Given the description of an element on the screen output the (x, y) to click on. 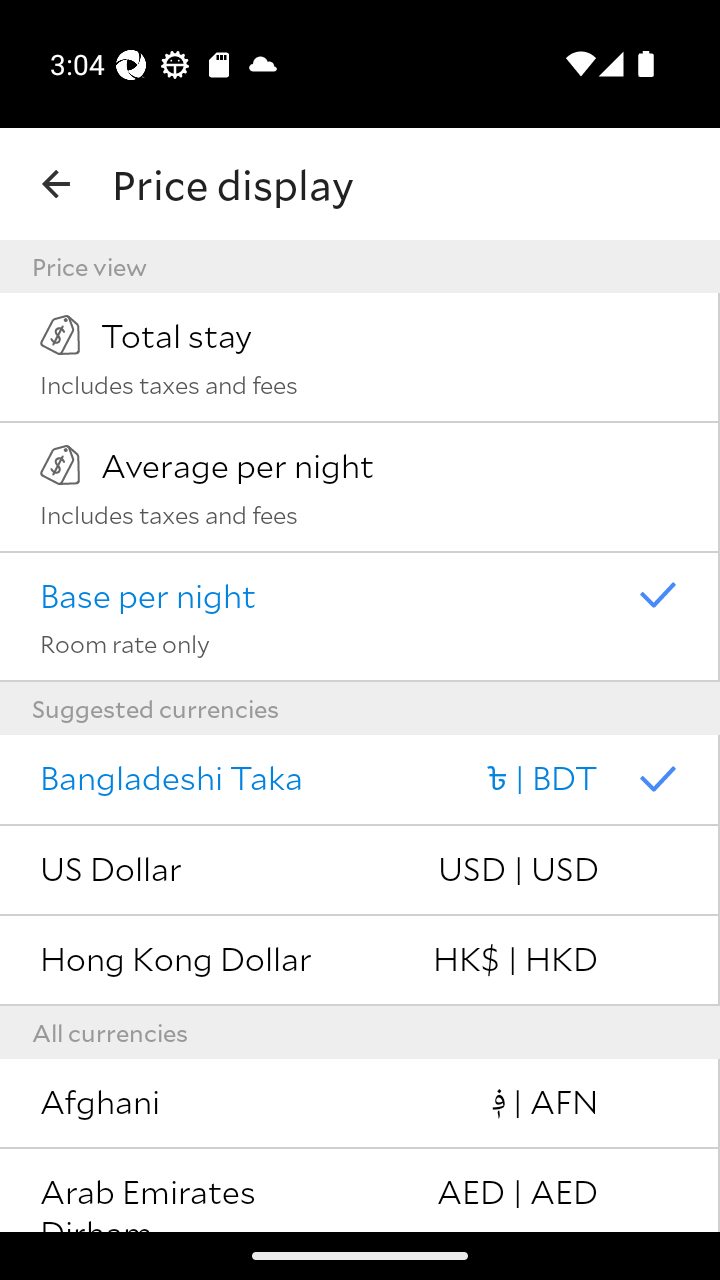
navigation_button (56, 184)
Average per night Includes taxes and fees (360, 487)
Base per night Room rate only (360, 617)
Bangladeshi Taka ৳ | BDT (360, 779)
US Dollar USD | USD (360, 870)
Hong Kong Dollar HK$ | HKD (360, 961)
Afghani ‎؋ | AFN (360, 1103)
Arab Emirates Dirham AED | AED (360, 1190)
